Given the description of an element on the screen output the (x, y) to click on. 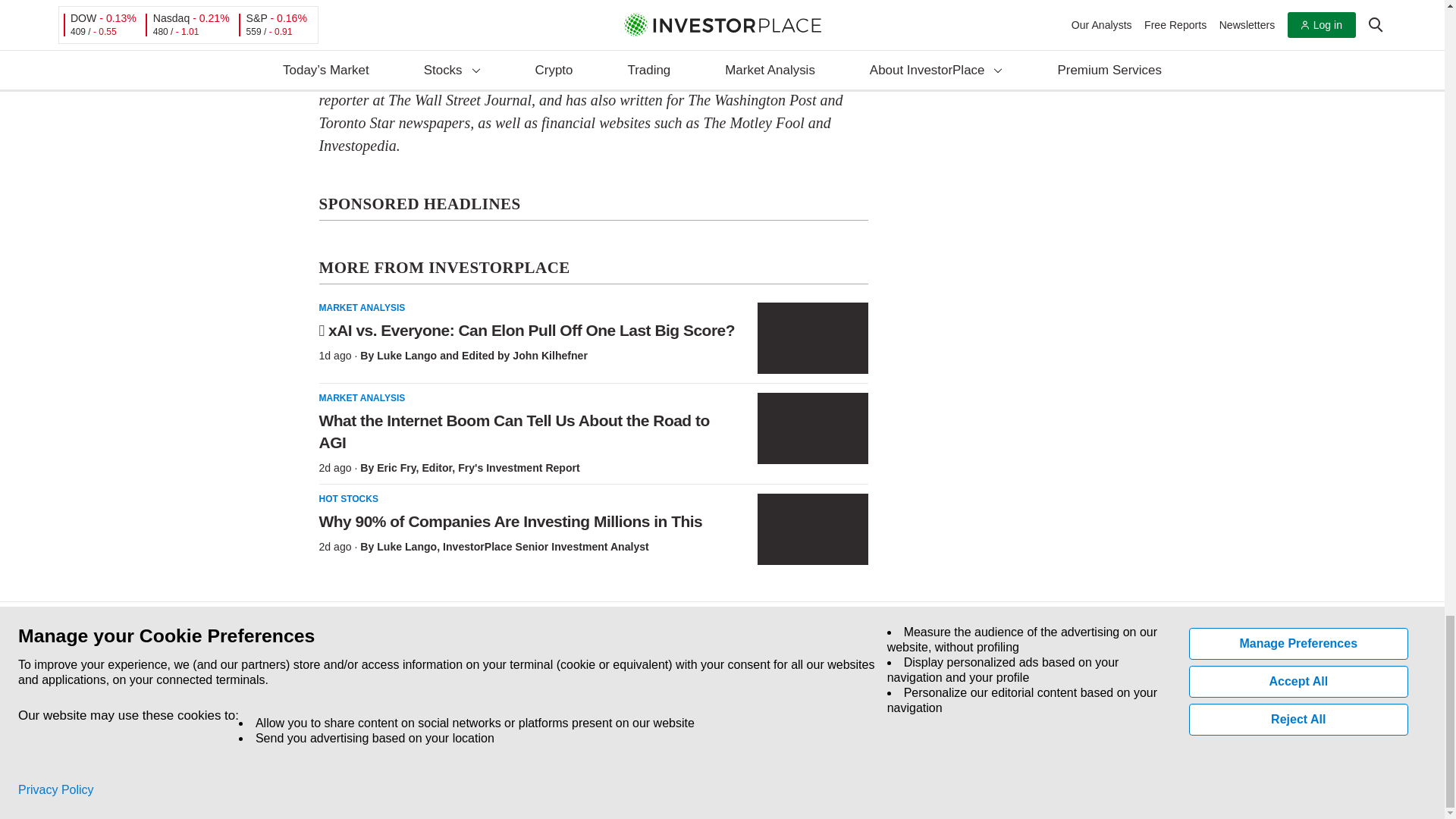
Subscribe to our RSS feed (389, 711)
View profile of Eric Fry (395, 467)
What the Internet Boom Can Tell Us About the Road to AGI (812, 428)
Visit our Facebook Page (319, 711)
View profile of Edited by John Kilhefner (524, 355)
View profile of Luke Lango (406, 355)
View profile of Luke Lango (406, 546)
Visit our Twitter page (354, 711)
